Given the description of an element on the screen output the (x, y) to click on. 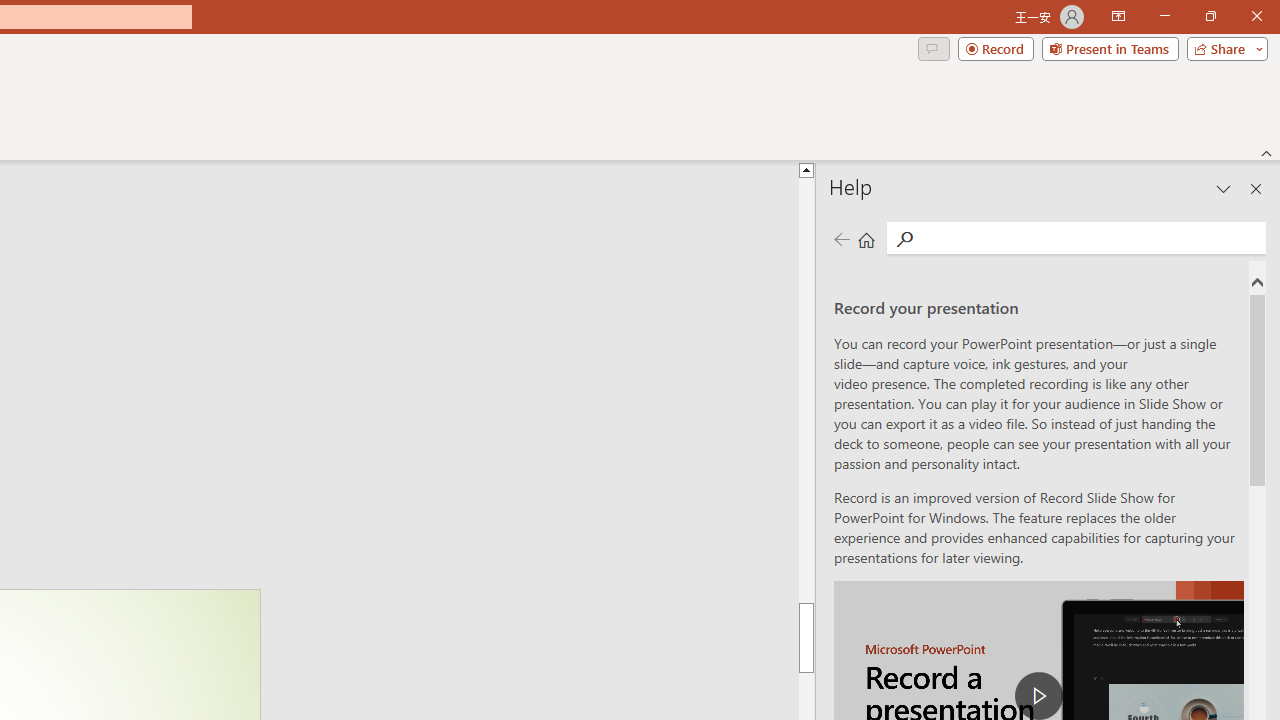
More templates (1105, 448)
Class: NetUIScrollBar (1267, 94)
Pin this item to the list (480, 693)
Line up (1267, 137)
